Given the description of an element on the screen output the (x, y) to click on. 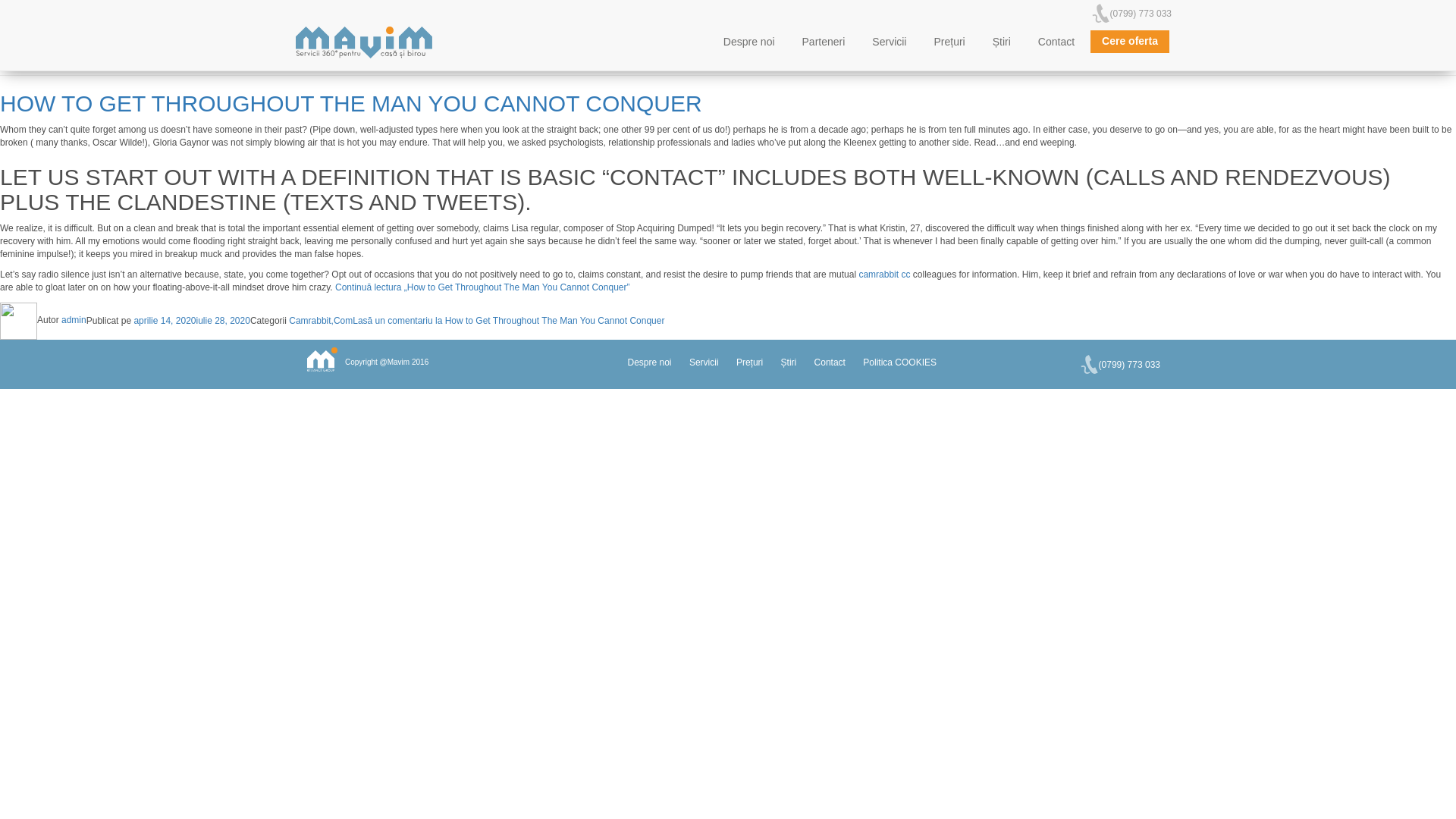
aprilie 14, 2020iulie 28, 2020 (190, 319)
Camrabbit,Com (320, 319)
Contact (1056, 42)
admin (73, 319)
HOW TO GET THROUGHOUT THE MAN YOU CANNOT CONQUER (350, 103)
camrabbit cc (884, 274)
Parteneri (823, 42)
Despre noi (748, 42)
Servicii (888, 42)
